Given the description of an element on the screen output the (x, y) to click on. 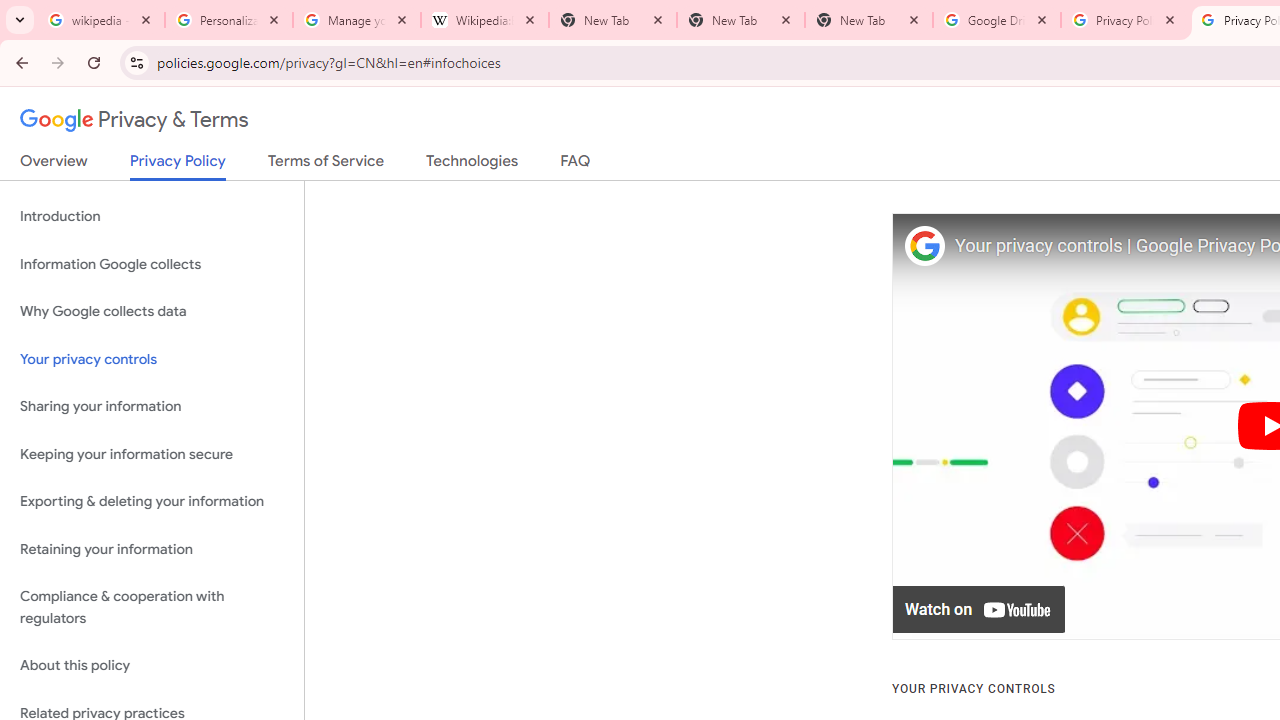
Why Google collects data (152, 312)
Wikipedia:Edit requests - Wikipedia (485, 20)
Sharing your information (152, 407)
Google Drive: Sign-in (997, 20)
New Tab (869, 20)
Information Google collects (152, 263)
Technologies (472, 165)
Watch on YouTube (979, 610)
Overview (54, 165)
Photo image of Google (924, 246)
